Given the description of an element on the screen output the (x, y) to click on. 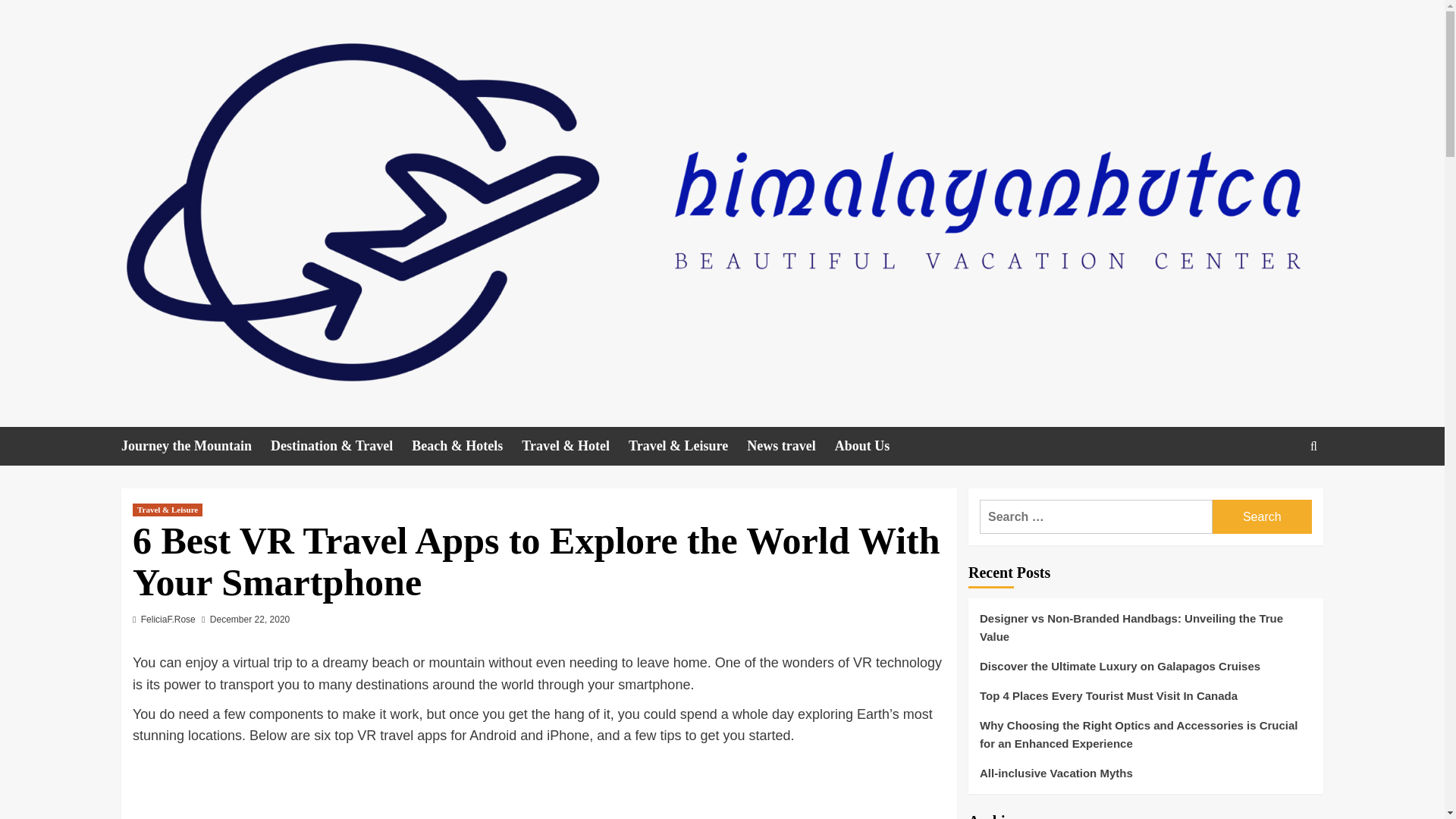
Journey the Mountain (195, 446)
About Us (871, 446)
News travel (790, 446)
Search (1313, 446)
FeliciaF.Rose (168, 619)
Search (1278, 492)
Search (1261, 516)
December 22, 2020 (249, 619)
Search (1261, 516)
